Given the description of an element on the screen output the (x, y) to click on. 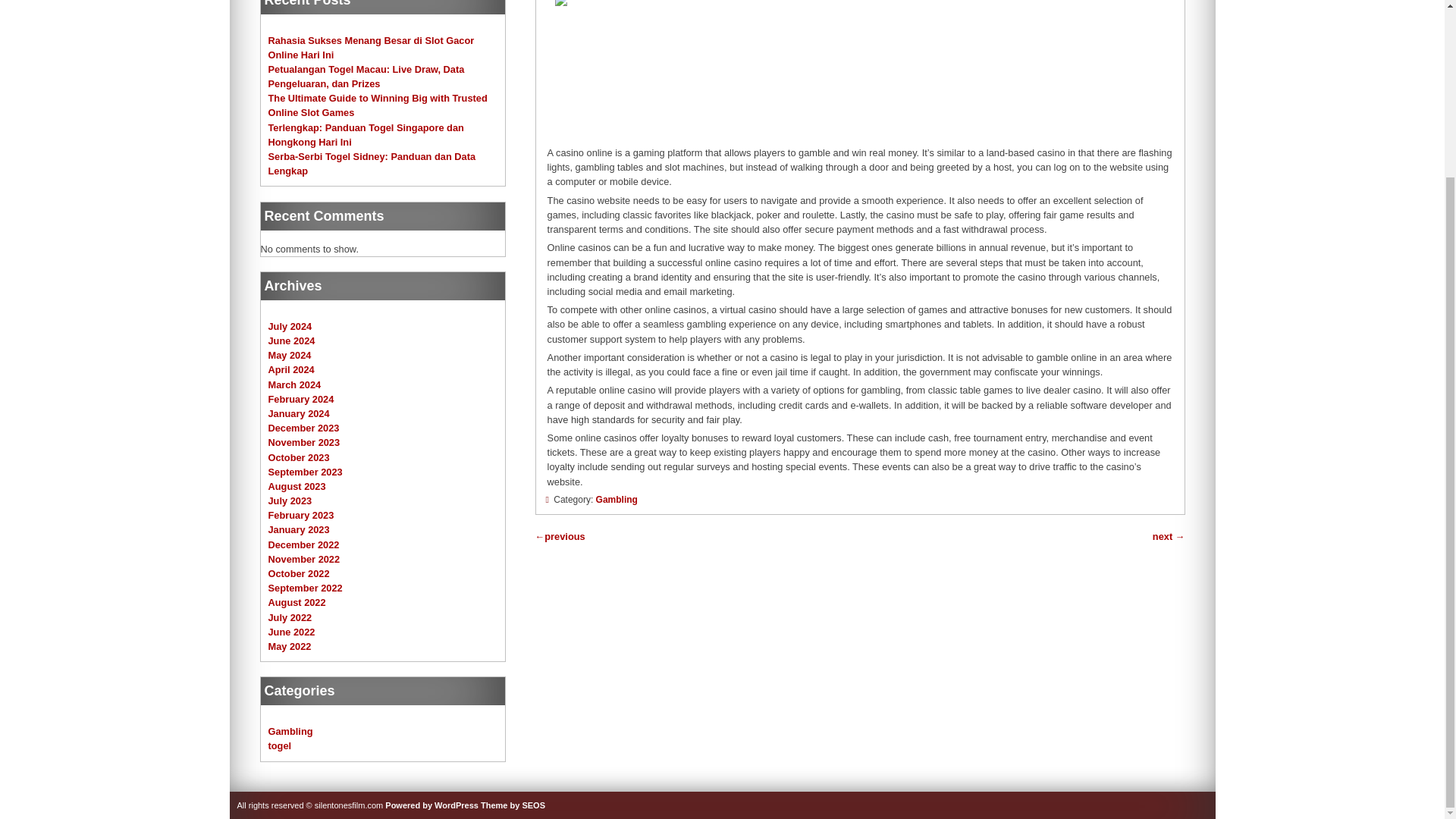
togel (279, 745)
July 2022 (290, 617)
February 2024 (300, 398)
Powered by WordPress (432, 804)
March 2024 (294, 384)
Rahasia Sukses Menang Besar di Slot Gacor Online Hari Ini (370, 46)
November 2022 (303, 559)
Seos free wordpress themes (512, 804)
July 2023 (290, 500)
August 2022 (296, 602)
April 2024 (290, 369)
June 2022 (291, 632)
May 2024 (289, 355)
Gambling (290, 731)
